Given the description of an element on the screen output the (x, y) to click on. 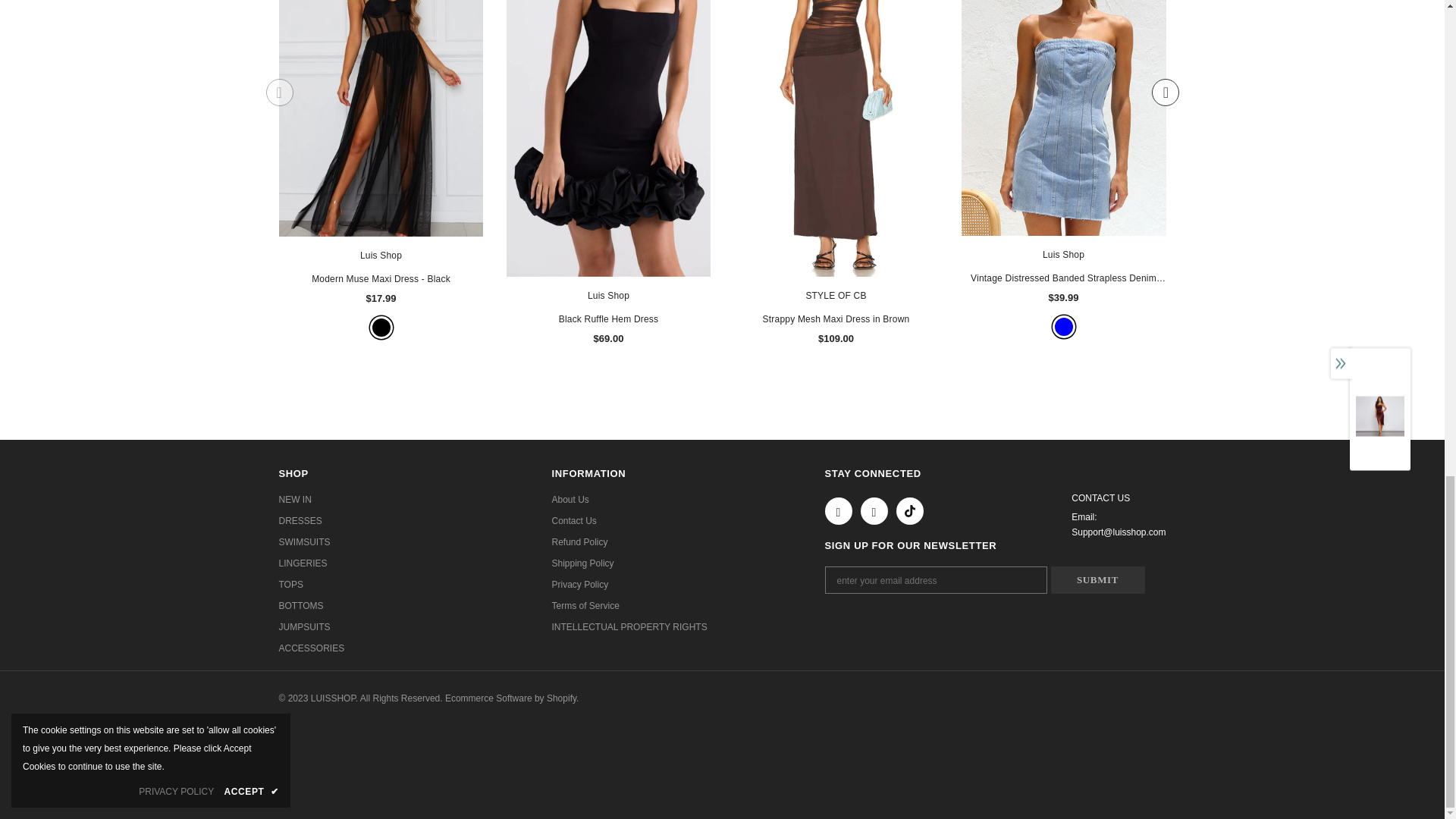
Submit (1097, 579)
